Given the description of an element on the screen output the (x, y) to click on. 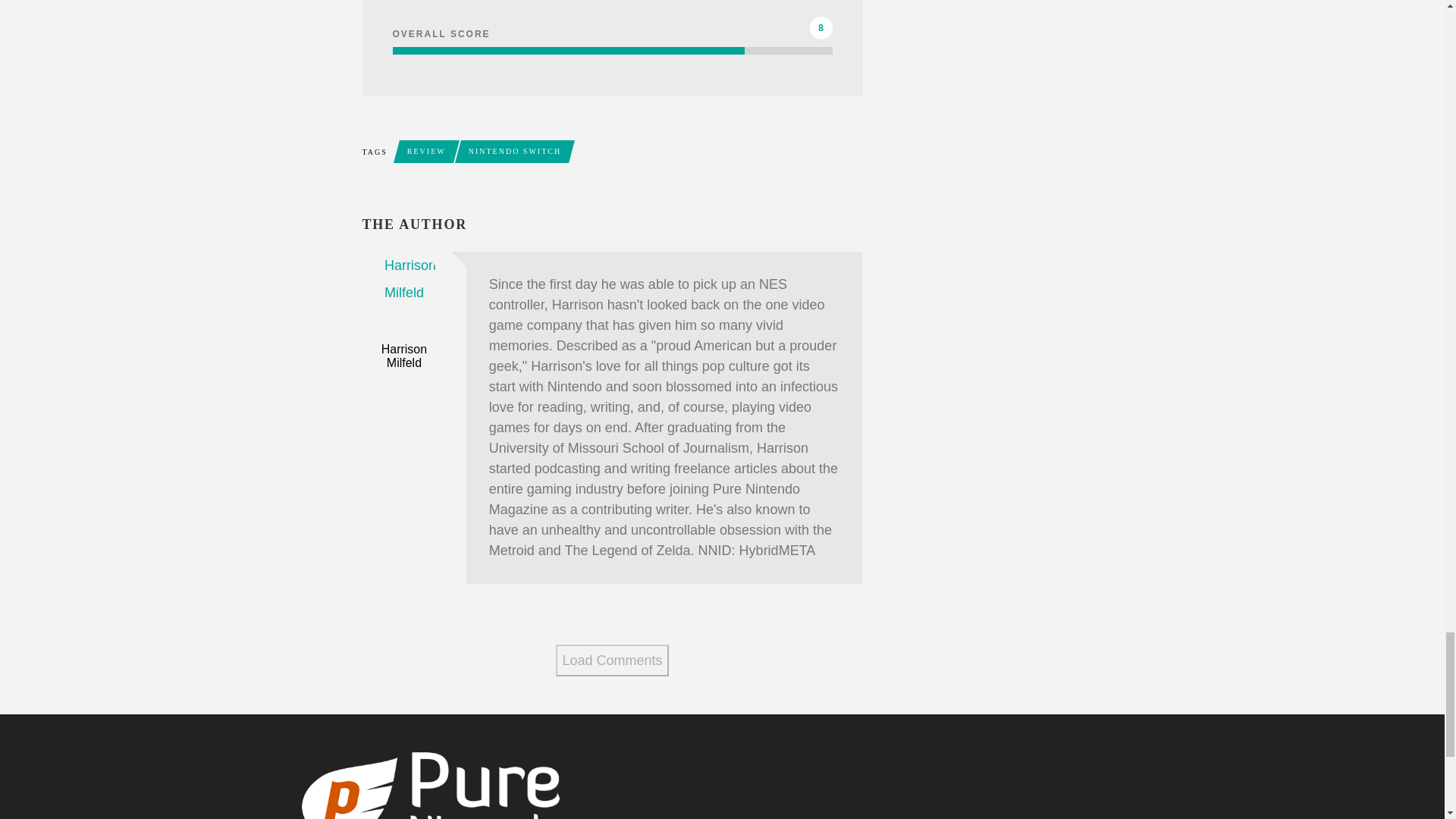
REVIEW (425, 151)
NINTENDO SWITCH (515, 151)
Posts by Harrison Milfeld (403, 356)
Harrison Milfeld (403, 356)
